Given the description of an element on the screen output the (x, y) to click on. 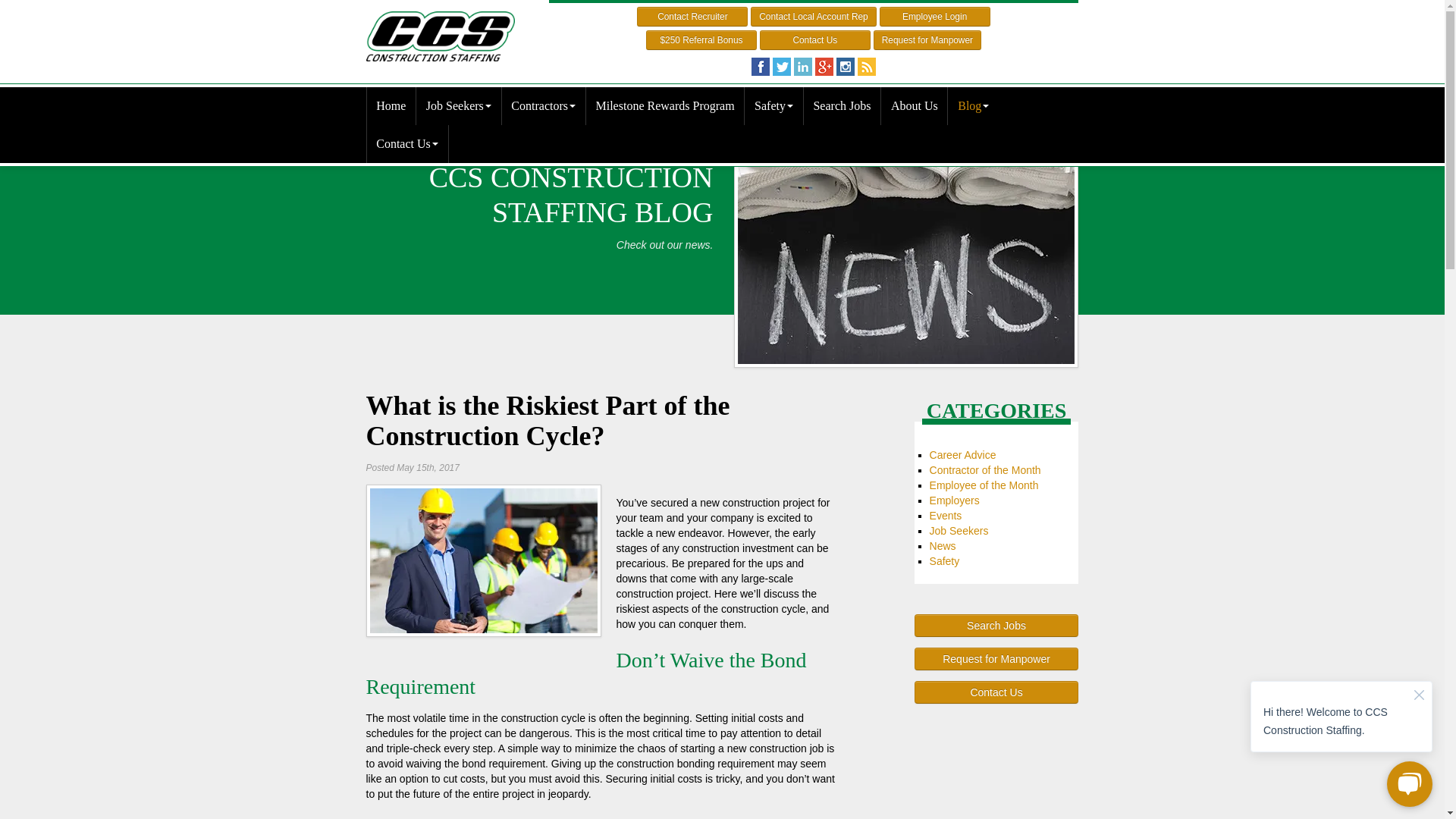
Safety (773, 105)
Contractors (542, 105)
Search Jobs (841, 105)
Milestone Rewards Program (664, 105)
Contact Local Account Rep (813, 16)
Contact Recruiter (692, 16)
About Us (913, 105)
Check us out on Instagram (844, 66)
Follow us on Twitter (781, 66)
Request for Manpower (927, 39)
Our Blog RSS Feed (866, 66)
Contact Us (815, 39)
Job Seekers (457, 105)
Contact Us (405, 143)
Blog (972, 105)
